Given the description of an element on the screen output the (x, y) to click on. 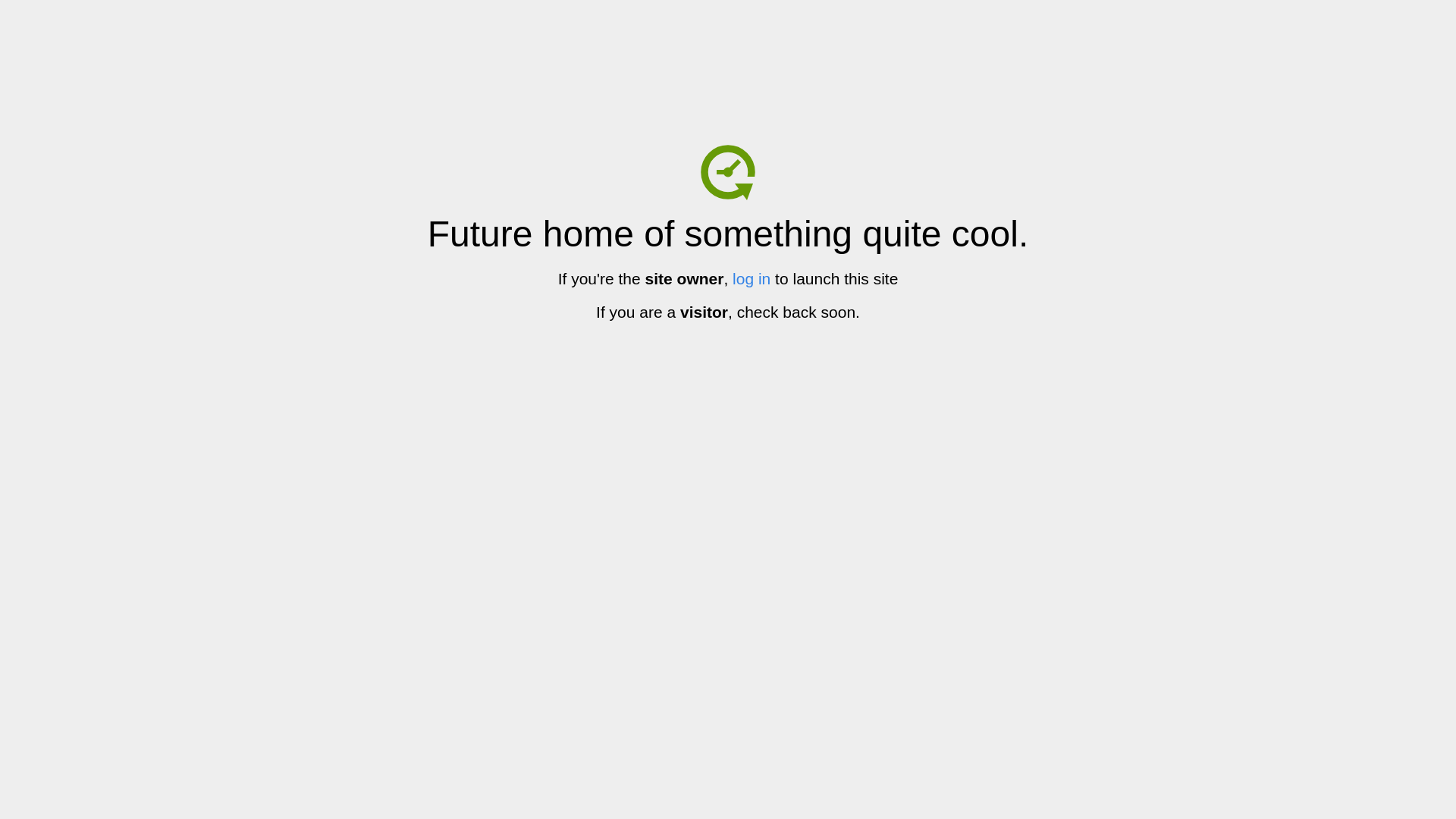
log in Element type: text (751, 278)
